Given the description of an element on the screen output the (x, y) to click on. 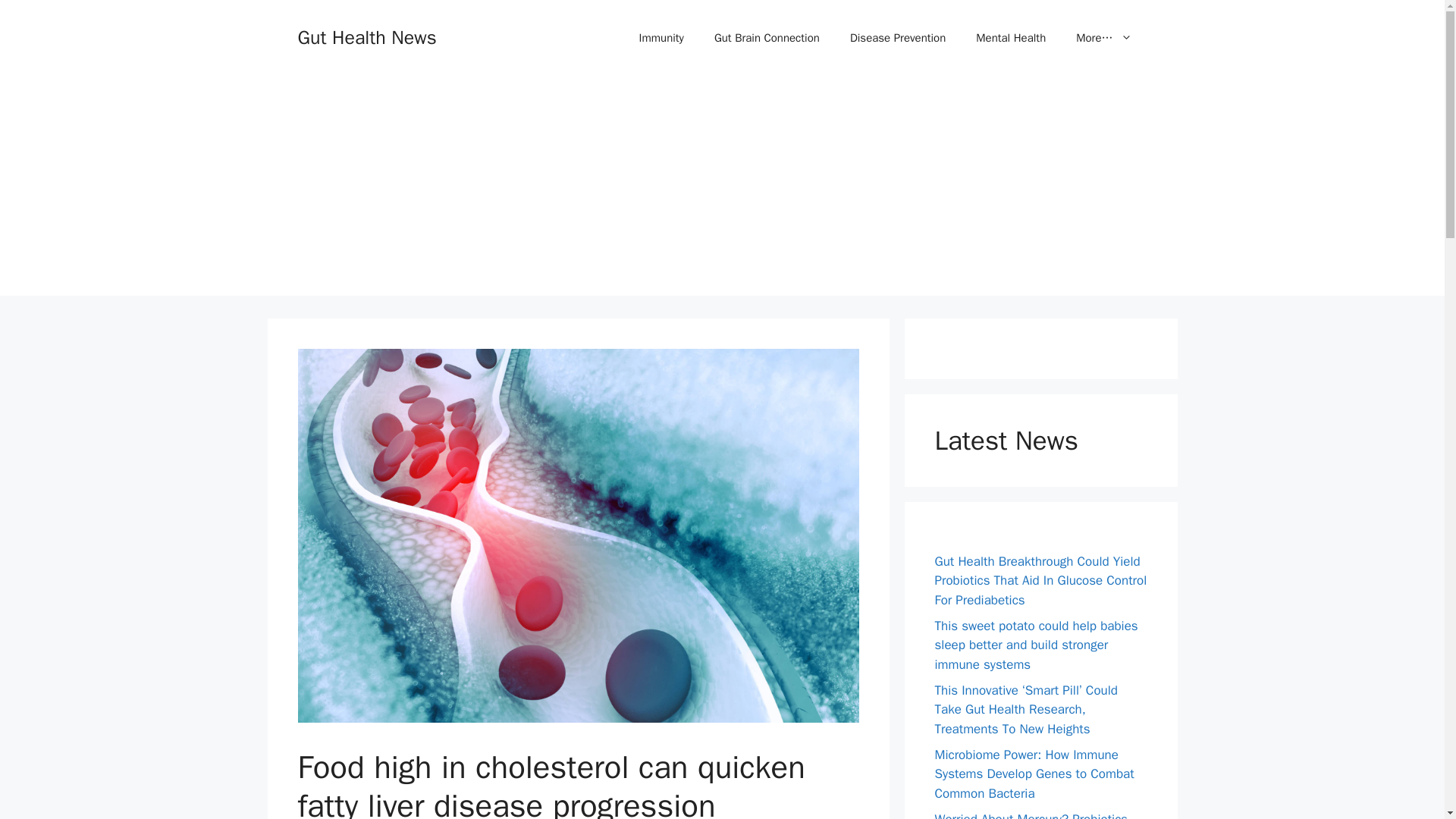
Gut Brain Connection (766, 37)
Disease Prevention (897, 37)
Gut Health News (366, 37)
Mental Health (1010, 37)
Immunity (661, 37)
